Given the description of an element on the screen output the (x, y) to click on. 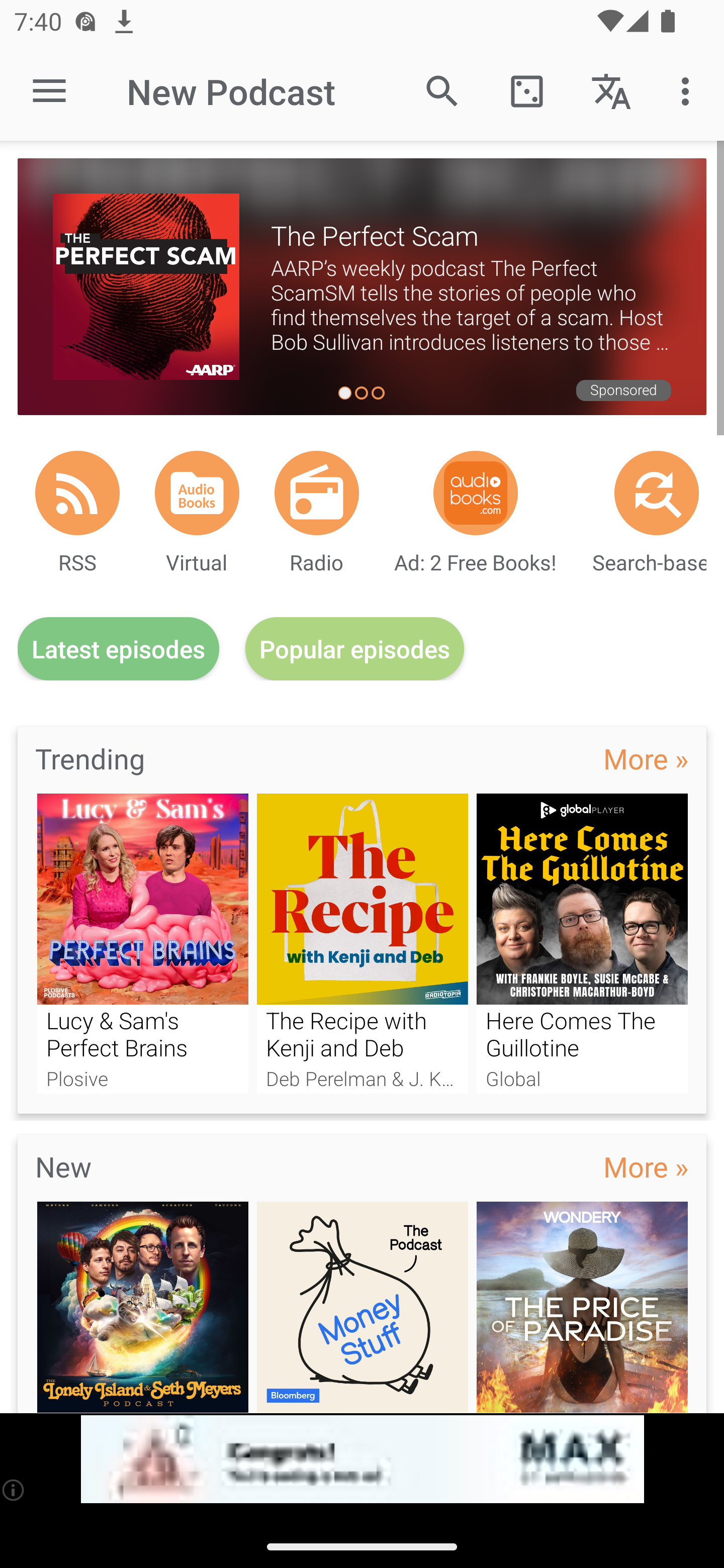
Open navigation sidebar (49, 91)
Search (442, 90)
Random pick (526, 90)
Podcast languages (611, 90)
More options (688, 90)
RSS (77, 492)
Virtual (196, 492)
Radio (316, 492)
Search-based (656, 492)
Latest episodes (118, 648)
Popular episodes (354, 648)
More » (645, 757)
Lucy & Sam's Perfect Brains Plosive (142, 942)
Here Comes The Guillotine Global (581, 942)
More » (645, 1166)
The Lonely Island and Seth Meyers Podcast (142, 1306)
Money Stuff: The Podcast (362, 1306)
The Price of Paradise (581, 1306)
app-monetization (362, 1459)
(i) (14, 1489)
